Given the description of an element on the screen output the (x, y) to click on. 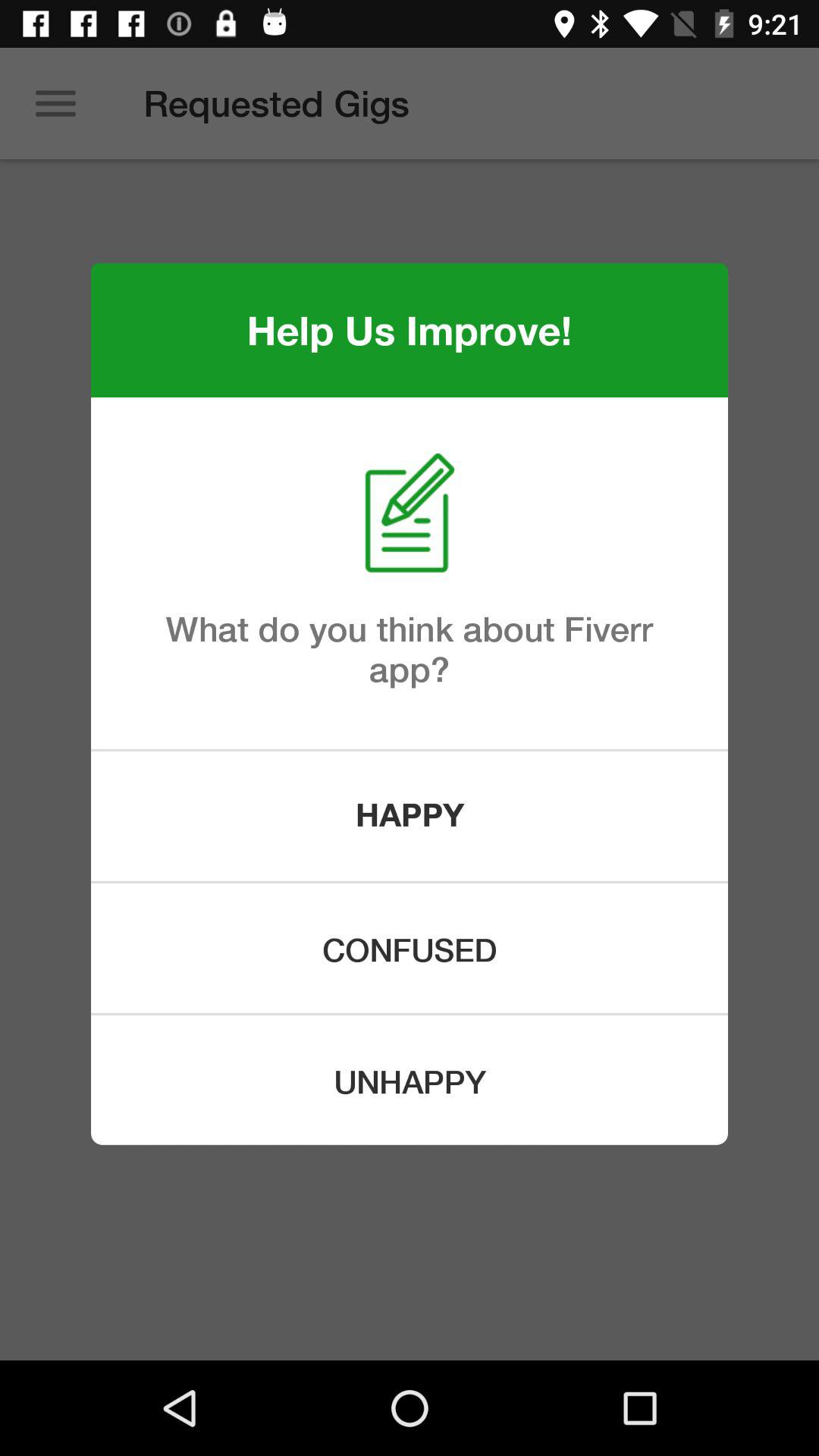
choose the unhappy item (409, 1079)
